Given the description of an element on the screen output the (x, y) to click on. 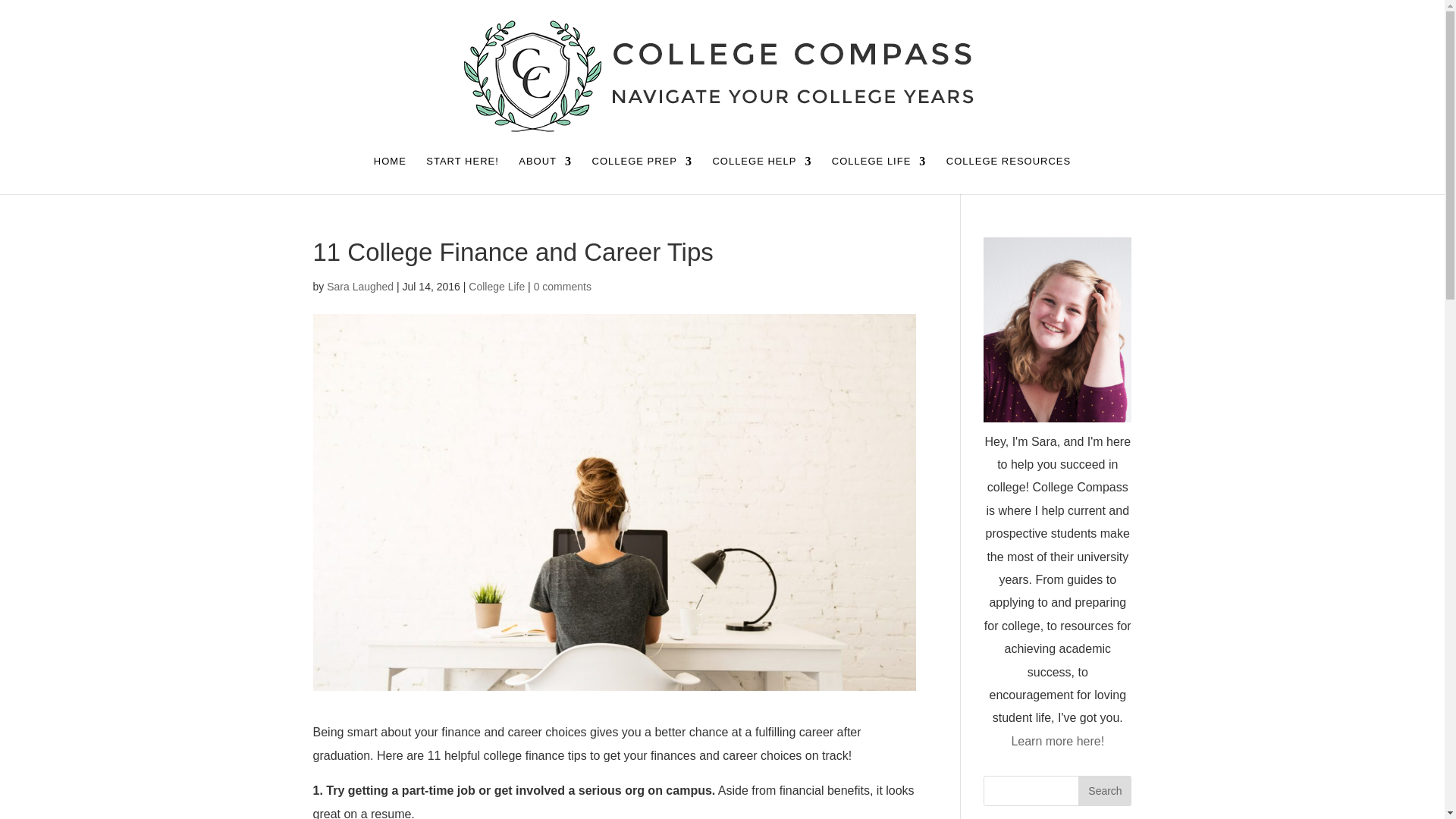
Search (1104, 790)
Posts by Sara Laughed (359, 286)
COLLEGE RESOURCES (1008, 175)
COLLEGE LIFE (878, 175)
COLLEGE HELP (760, 175)
START HERE! (462, 175)
ABOUT (545, 175)
COLLEGE PREP (642, 175)
